Given the description of an element on the screen output the (x, y) to click on. 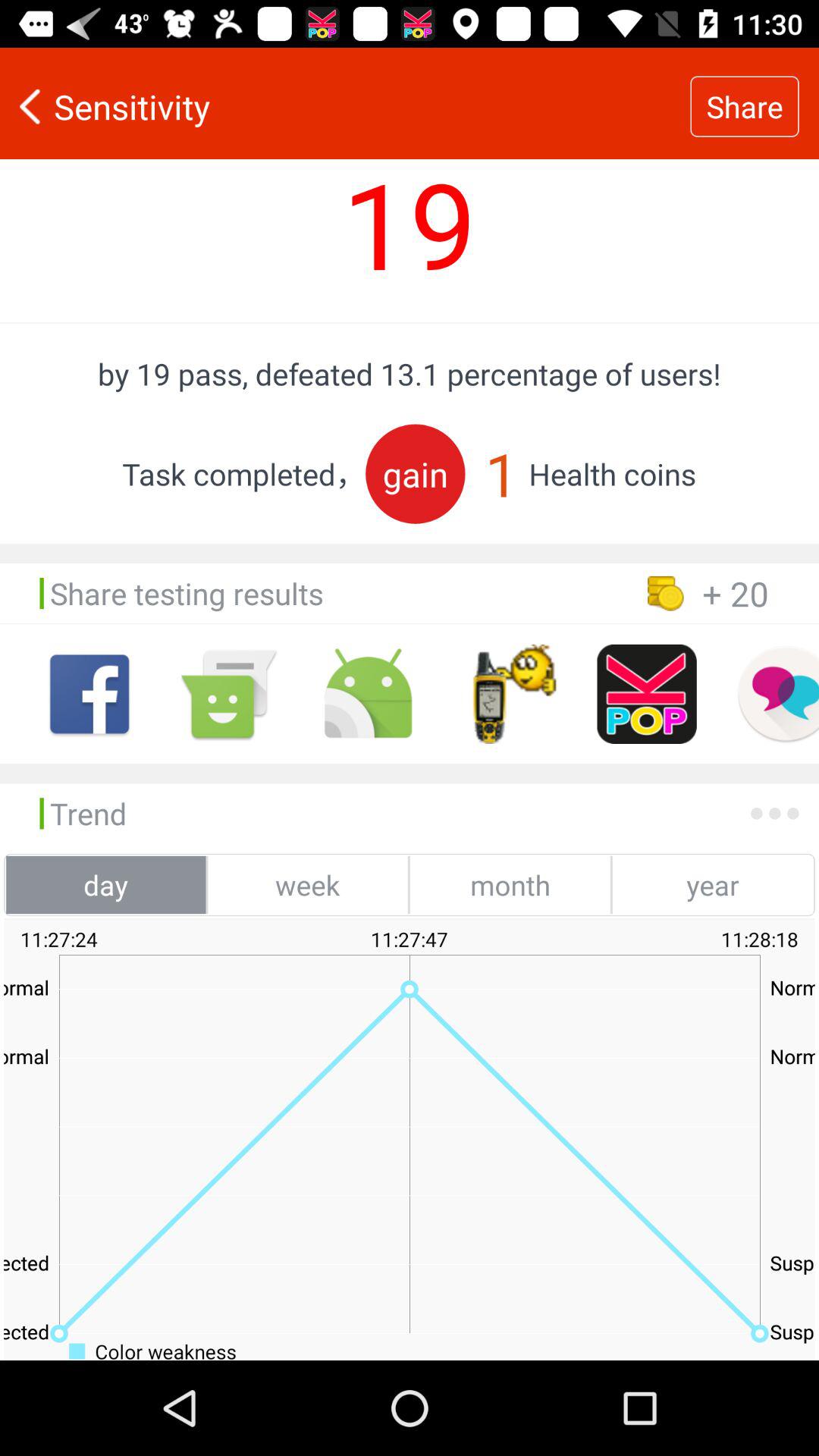
choose week item (307, 884)
